Given the description of an element on the screen output the (x, y) to click on. 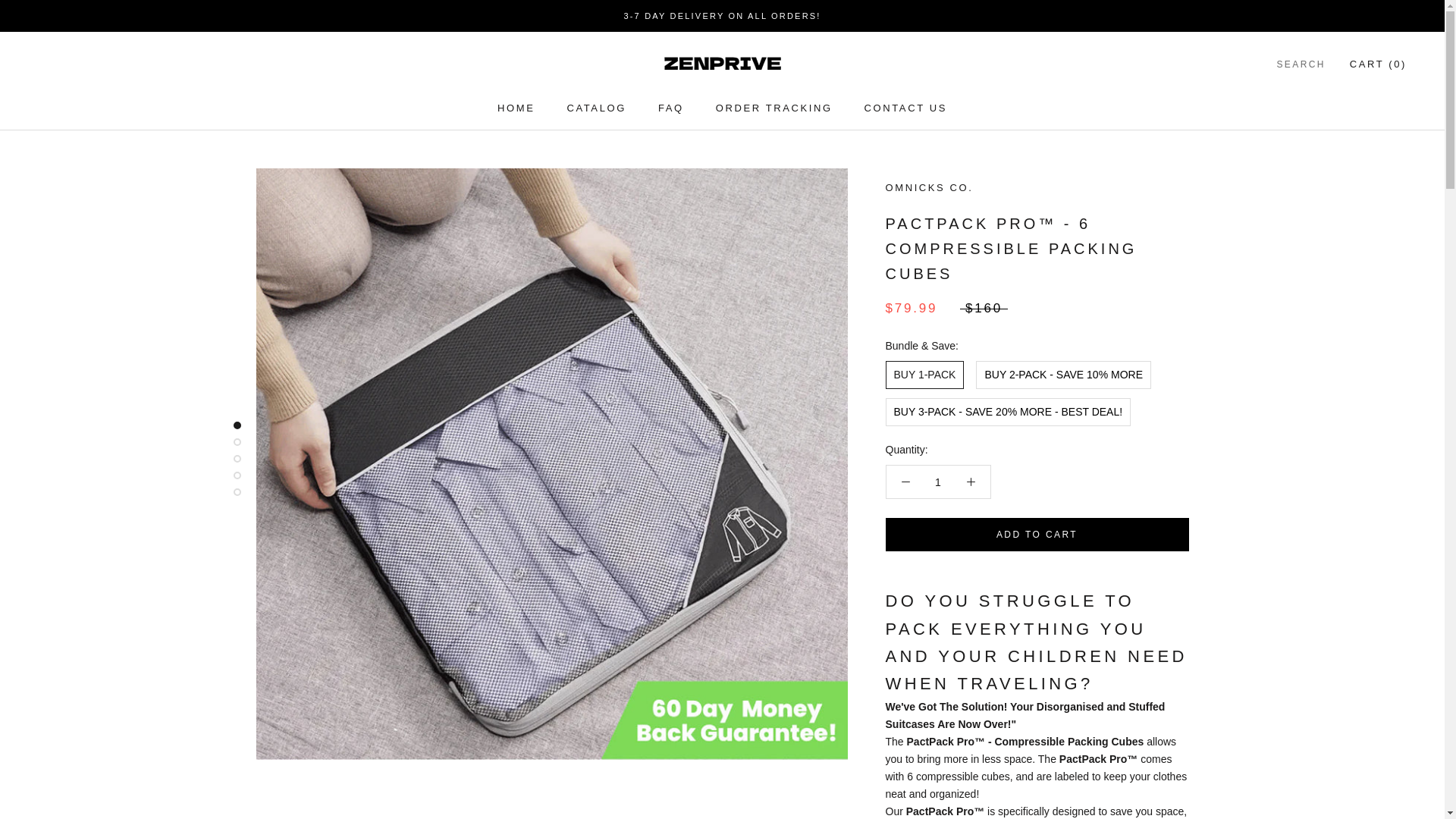
1 (671, 107)
ADD TO CART (774, 107)
SEARCH (905, 107)
